Given the description of an element on the screen output the (x, y) to click on. 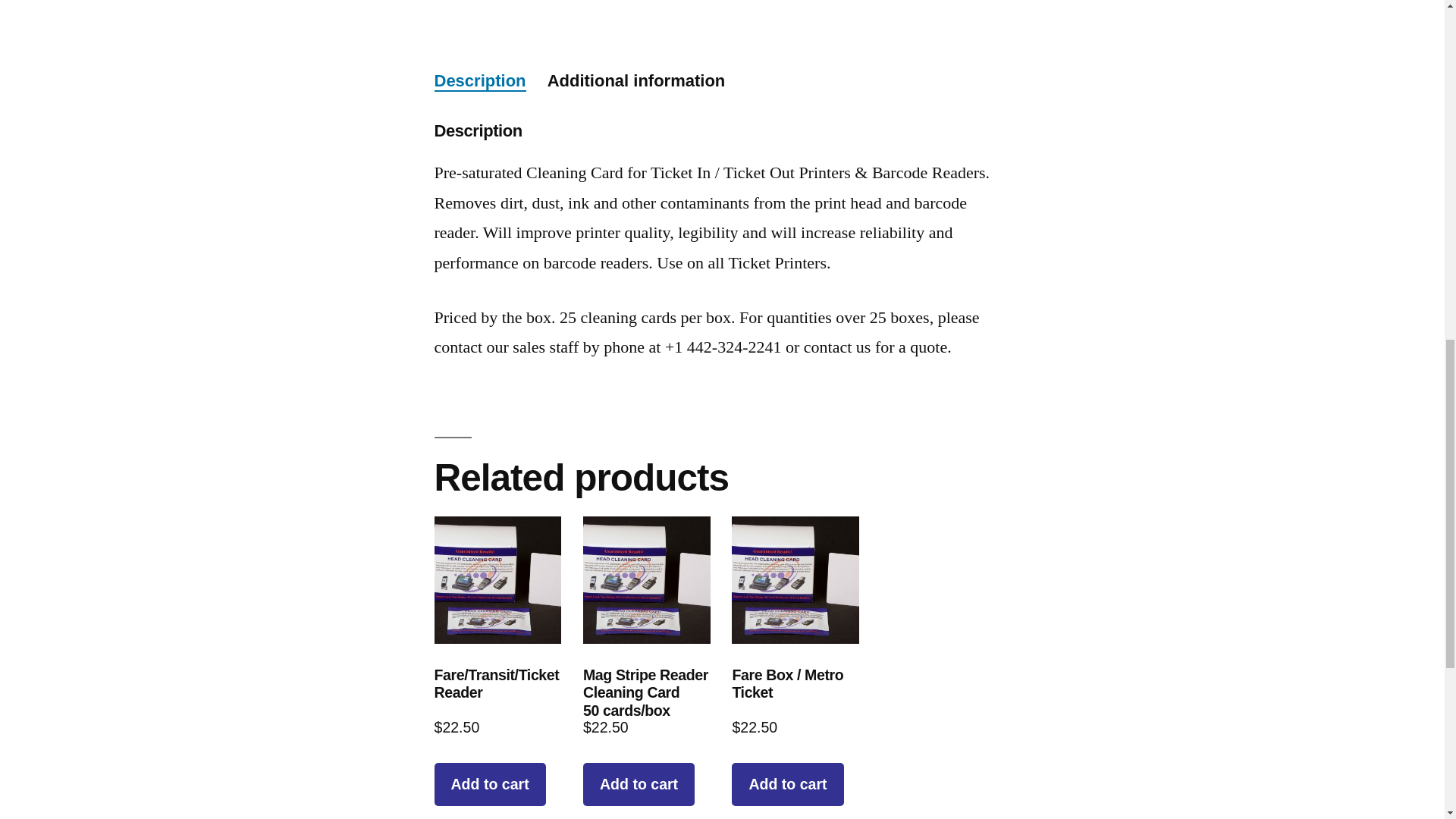
Add to cart (488, 783)
Add to cart (638, 783)
Description (479, 80)
Additional information (636, 80)
